Given the description of an element on the screen output the (x, y) to click on. 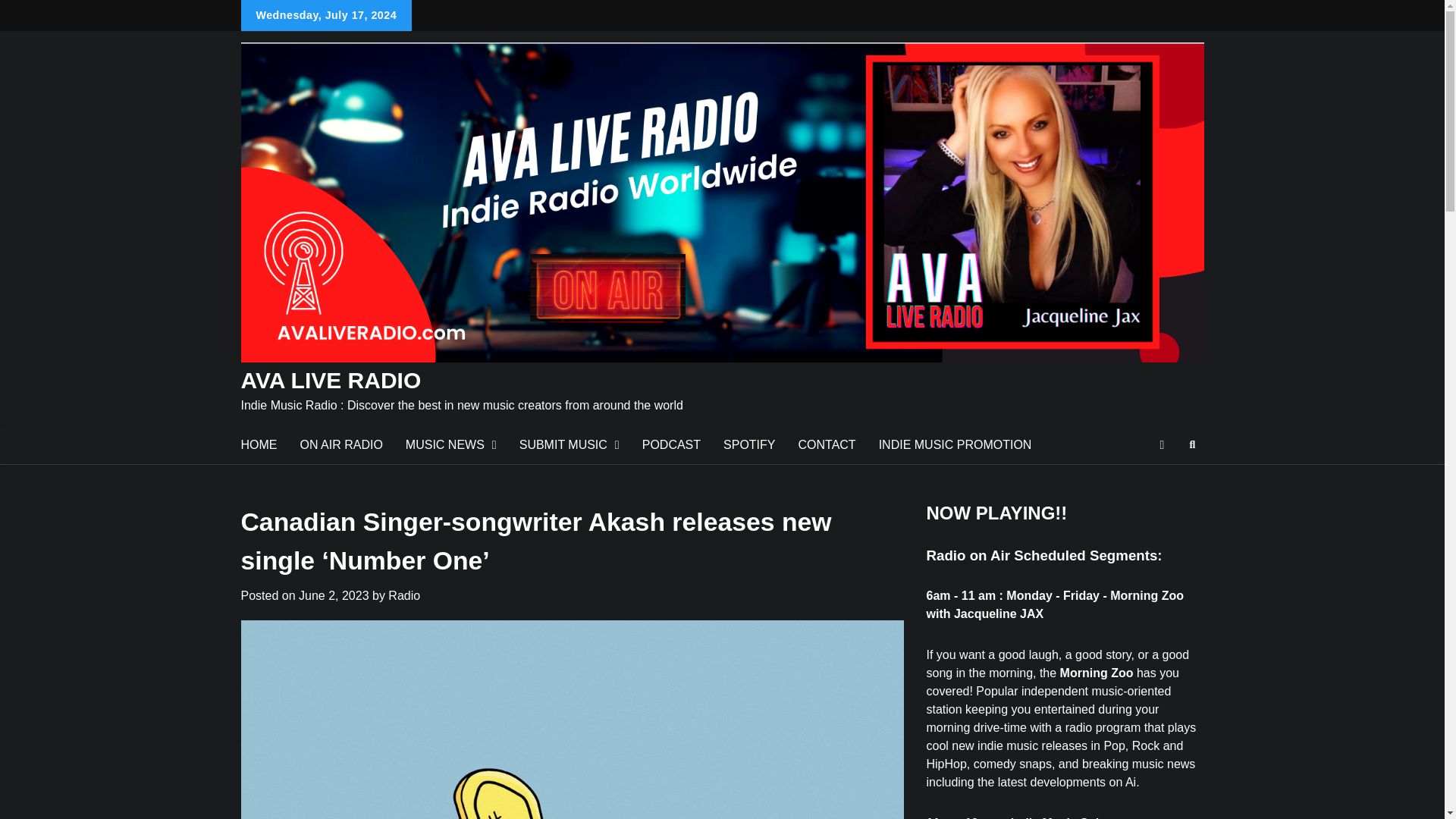
View Random Post (1162, 445)
ON AIR RADIO (340, 444)
INDIE MUSIC PROMOTION (955, 444)
HOME (258, 444)
CONTACT (827, 444)
June 2, 2023 (333, 594)
MUSIC NEWS (451, 444)
Search (1192, 445)
Radio (404, 594)
Search (1164, 480)
AVA LIVE RADIO (331, 380)
SUBMIT MUSIC (569, 444)
SPOTIFY (748, 444)
PODCAST (670, 444)
